Given the description of an element on the screen output the (x, y) to click on. 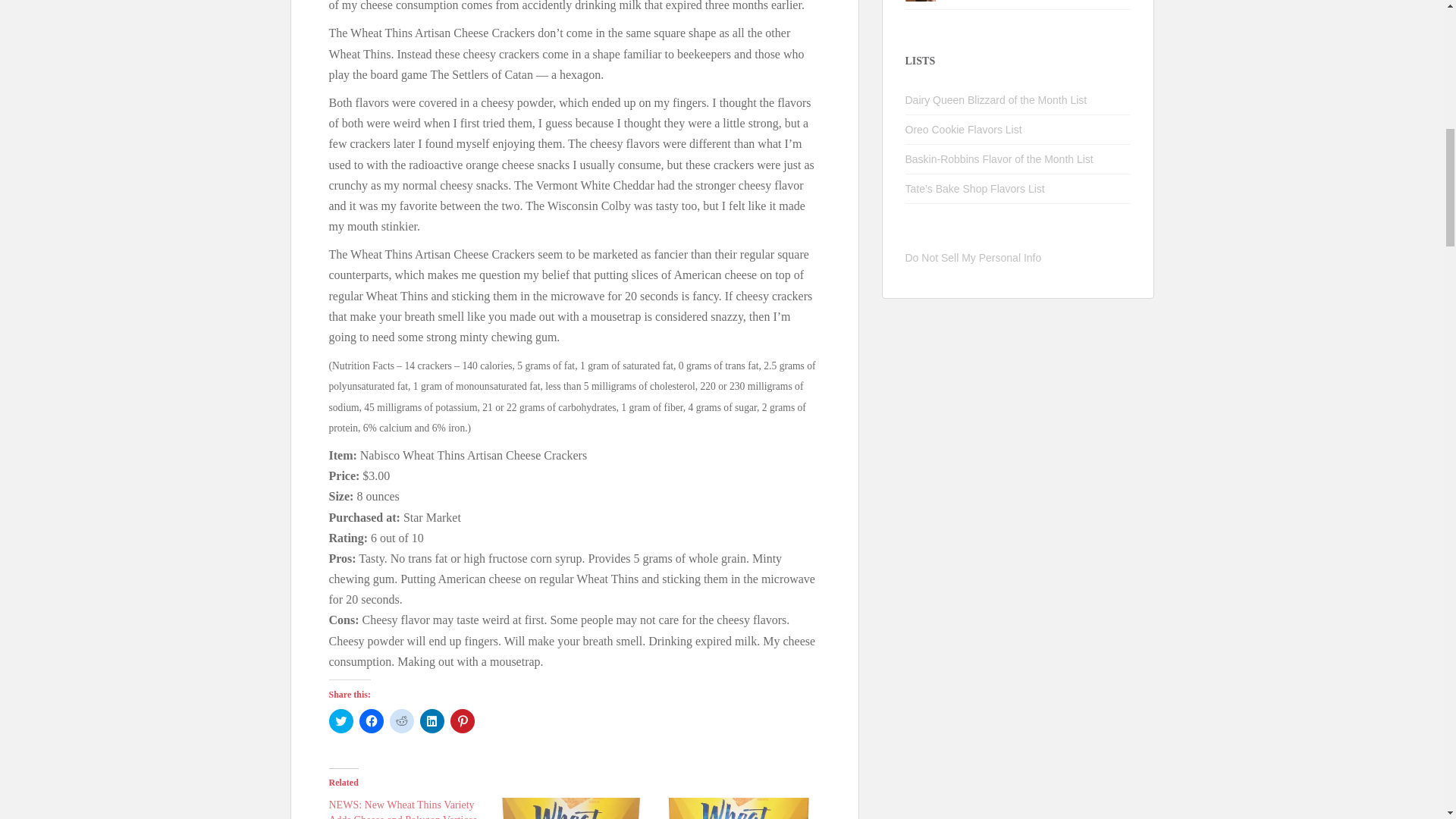
Click to share on Pinterest (461, 721)
Click to share on Twitter (341, 721)
REVIEW: Nabisco Chili Cheese Wheat Thins (737, 808)
Click to share on Facebook (371, 721)
REVIEW: Nabisco Honey Mustard Wheat Thins (571, 808)
Click to share on Reddit (401, 721)
Click to share on LinkedIn (432, 721)
